Given the description of an element on the screen output the (x, y) to click on. 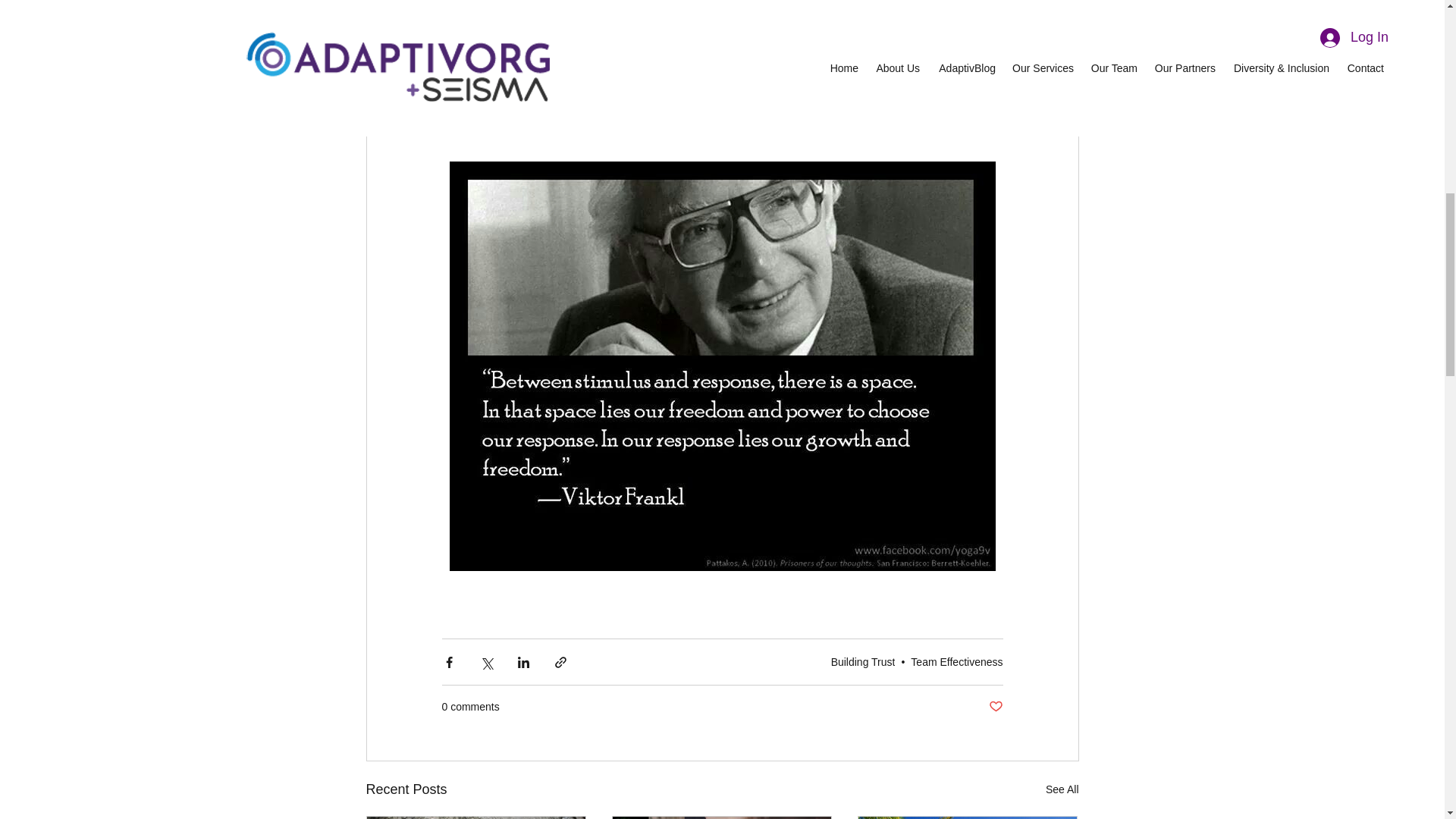
Sushrut Kamath (670, 100)
SEISMA GROUP (749, 59)
Anthony Kandi (568, 100)
AccountabilityMatters (713, 18)
Annie Spiteri (764, 100)
GoldenInsights (543, 18)
Robert Hogeland (606, 120)
Devon White (507, 120)
PowerOfResponse (895, 18)
Jason Wu (706, 110)
